Given the description of an element on the screen output the (x, y) to click on. 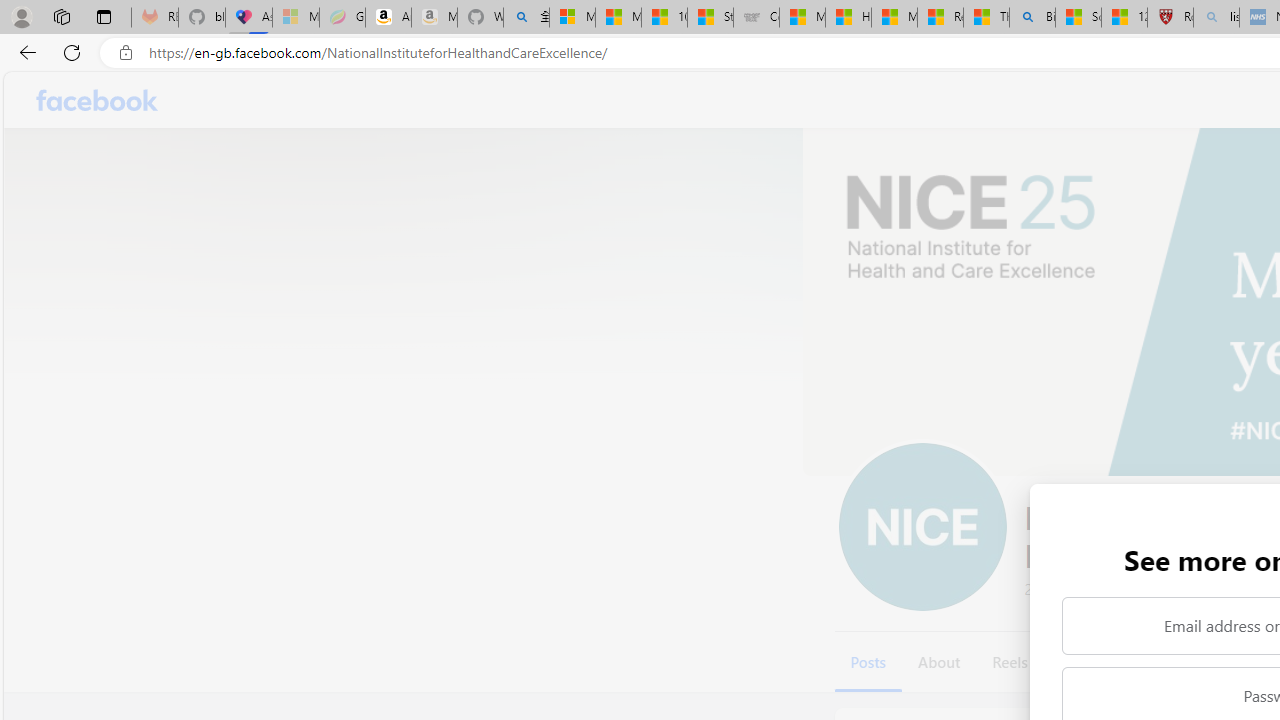
Personal Profile (21, 16)
Back (24, 52)
Science - MSN (1078, 17)
Tab actions menu (104, 16)
Bing (1031, 17)
12 Popular Science Lies that Must be Corrected (1124, 17)
Microsoft account | Privacy (572, 17)
Refresh (72, 52)
Workspaces (61, 16)
Facebook (97, 99)
